Given the description of an element on the screen output the (x, y) to click on. 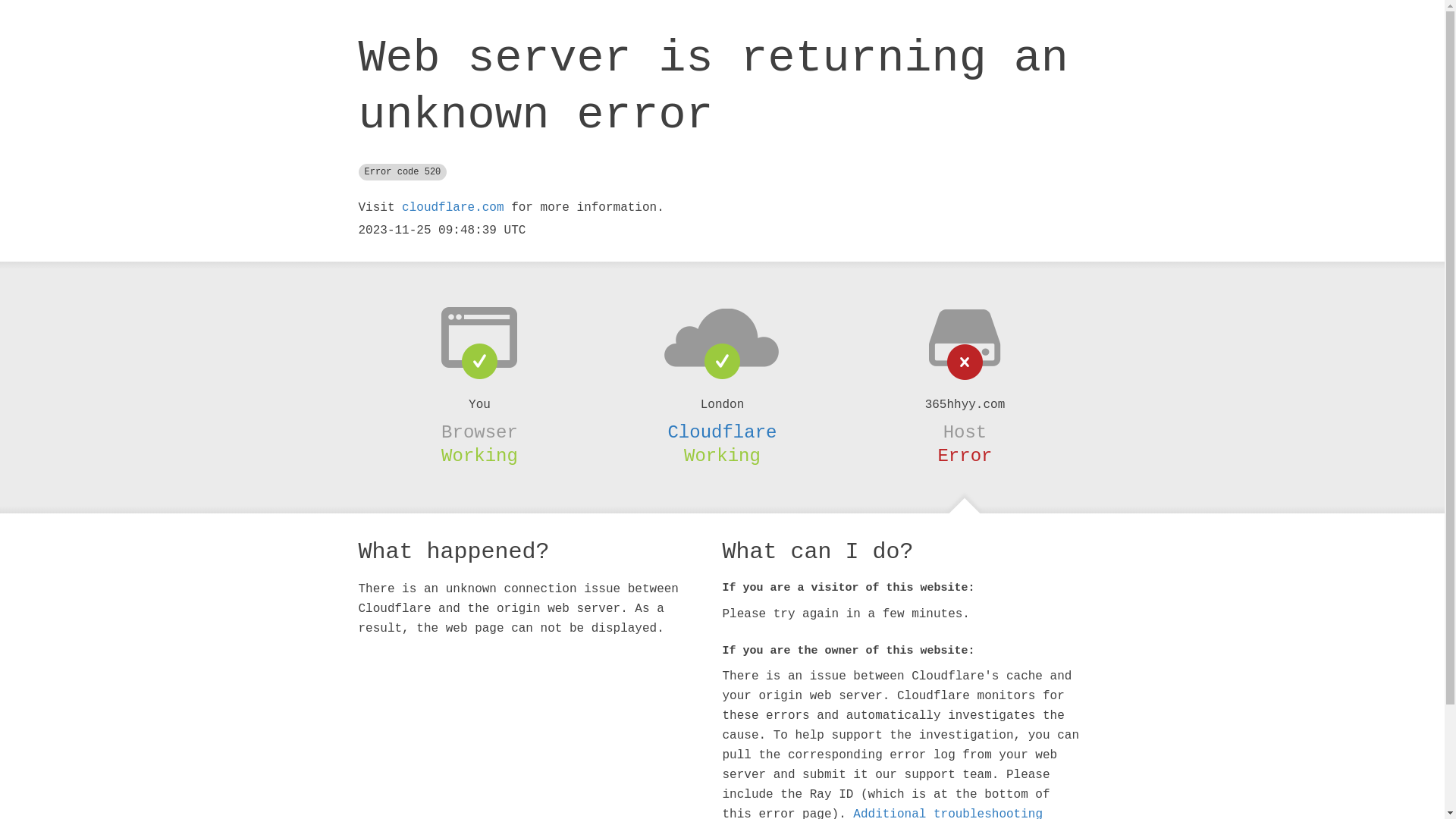
cloudflare.com Element type: text (452, 207)
Cloudflare Element type: text (721, 432)
